Given the description of an element on the screen output the (x, y) to click on. 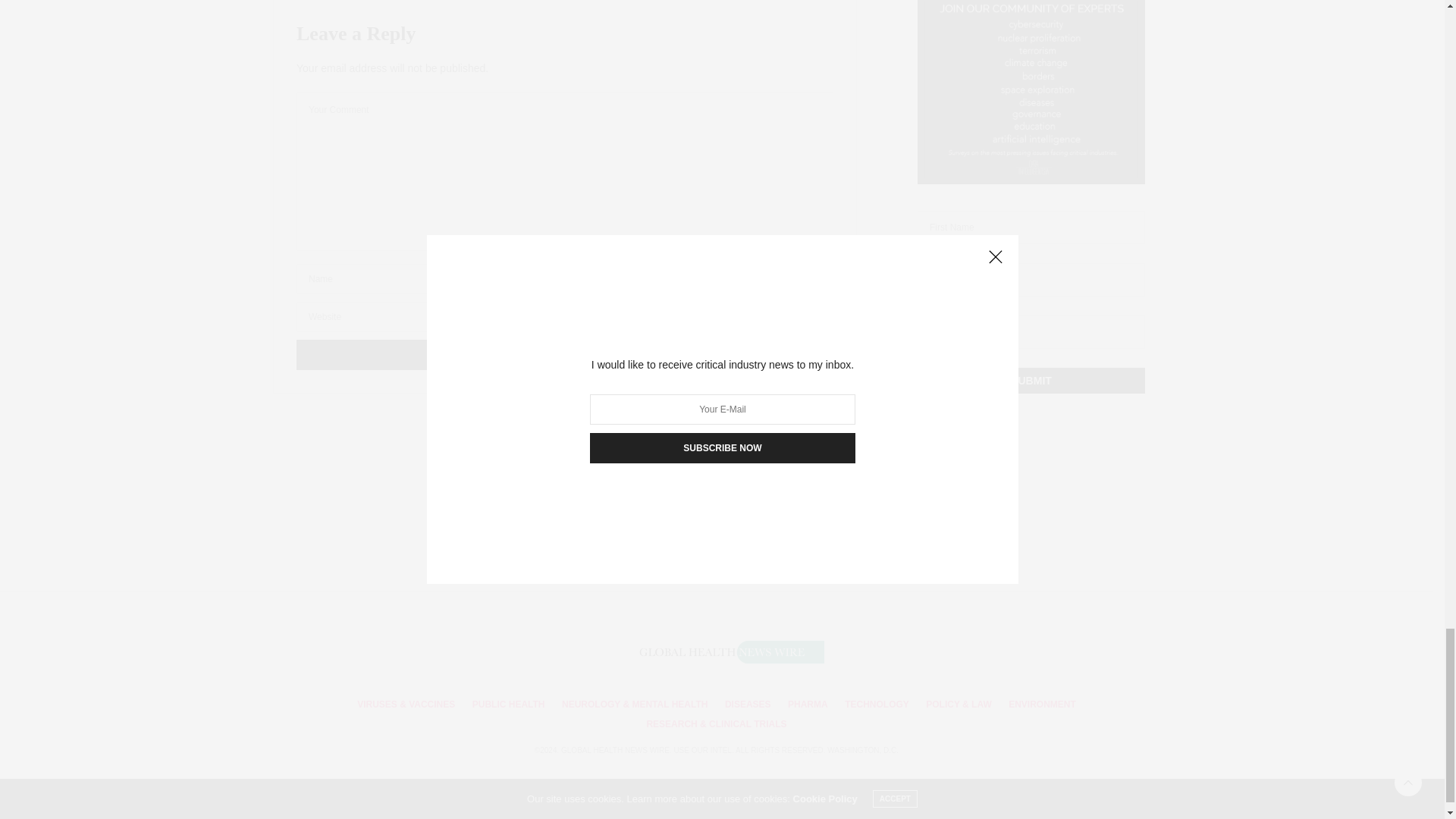
Submit Comment (564, 354)
